Given the description of an element on the screen output the (x, y) to click on. 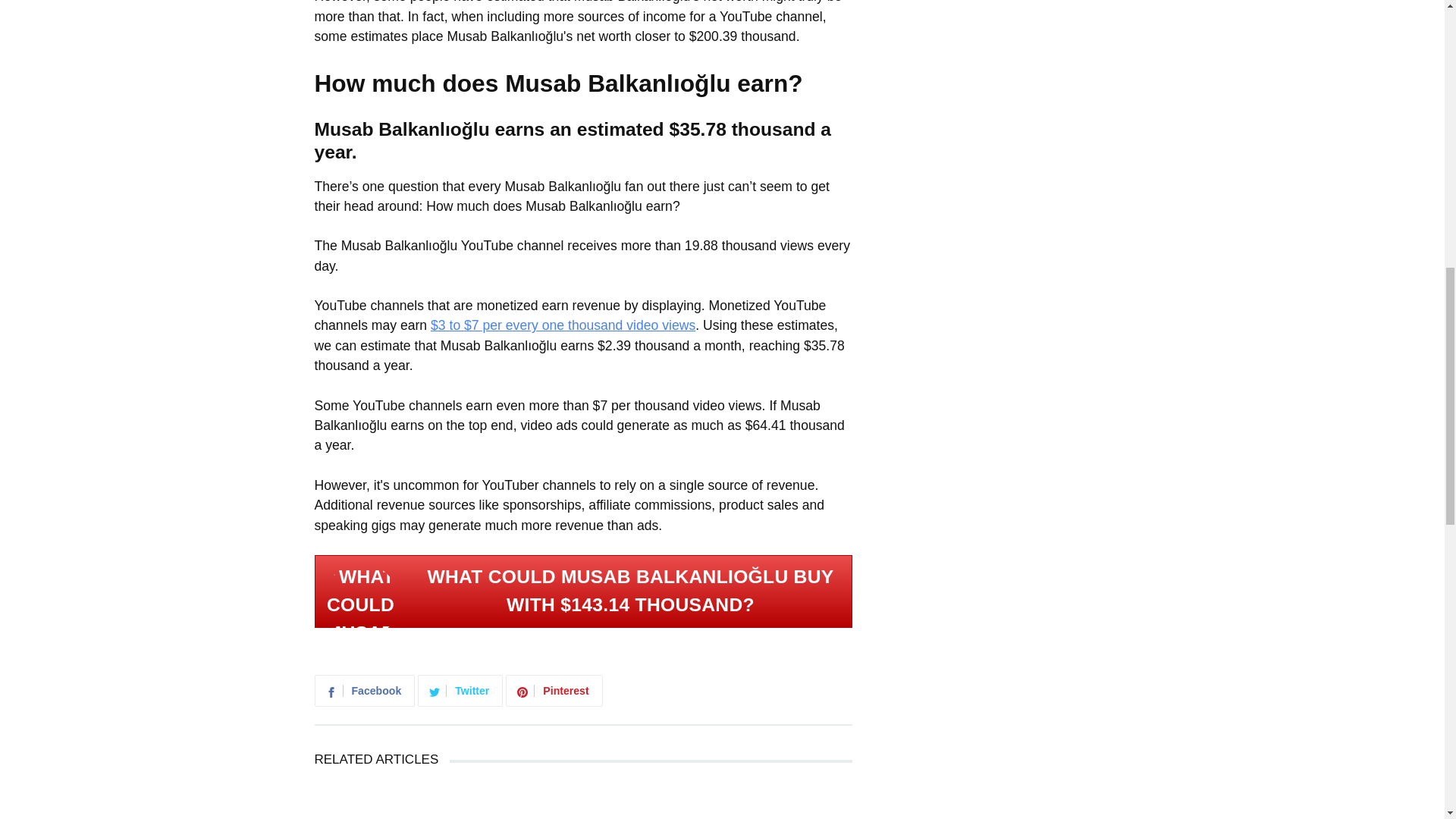
Youtube Hocam Net Worth (401, 801)
Facebook (365, 692)
Twitter (461, 692)
